Given the description of an element on the screen output the (x, y) to click on. 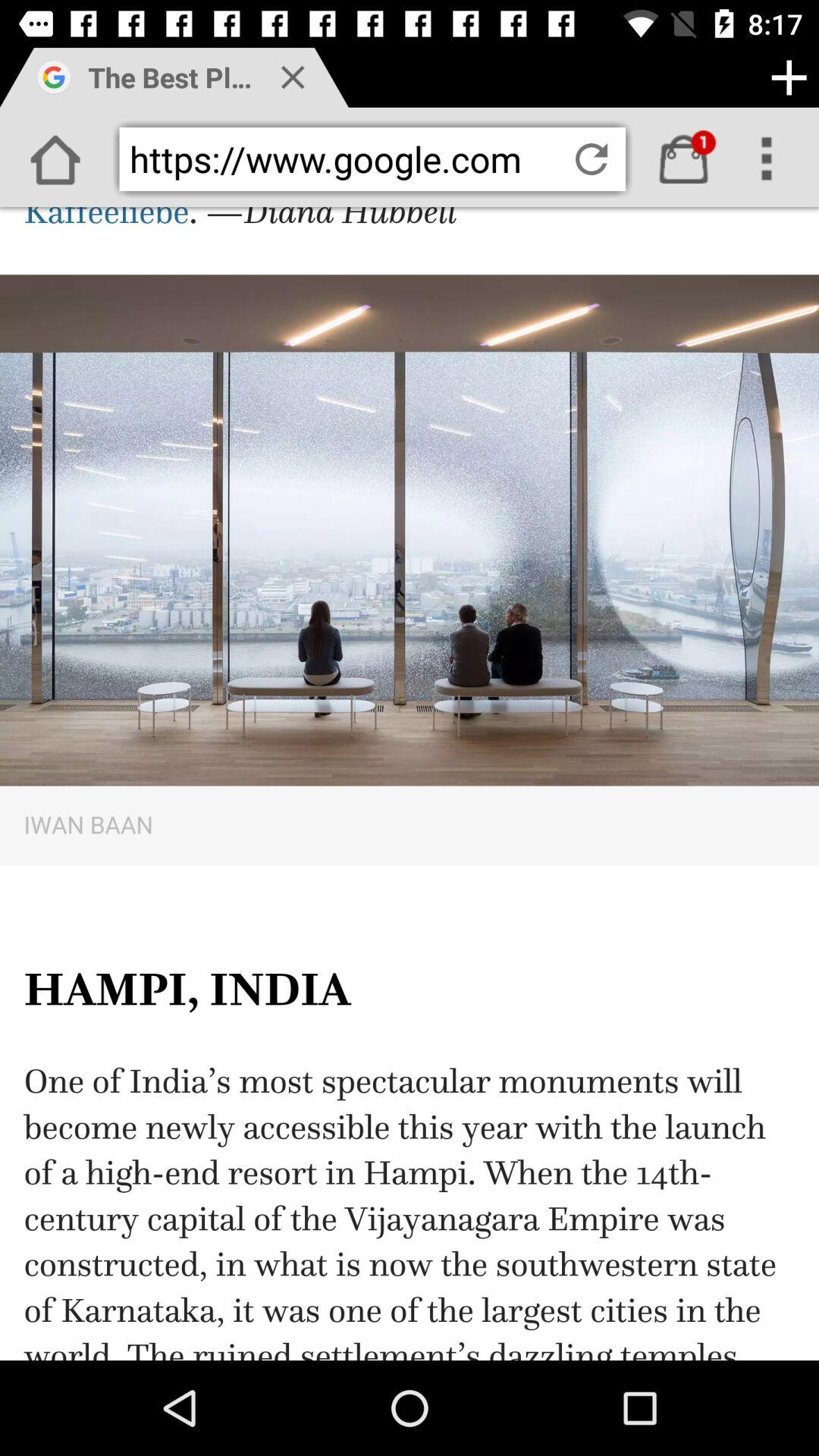
go to buy (683, 159)
